Given the description of an element on the screen output the (x, y) to click on. 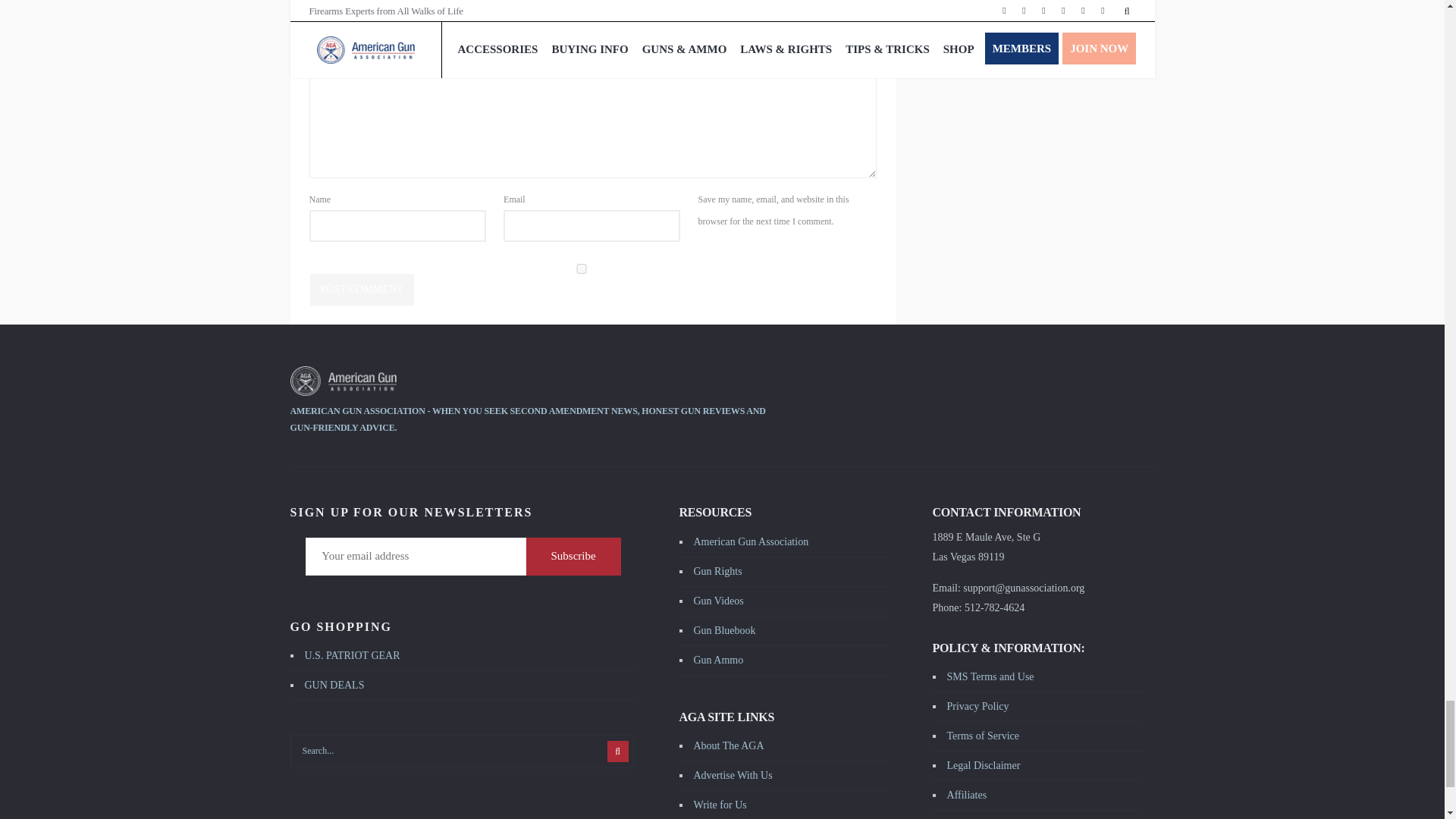
Post Comment (360, 289)
yes (580, 268)
Subscribe (573, 556)
Search... (461, 751)
